Given the description of an element on the screen output the (x, y) to click on. 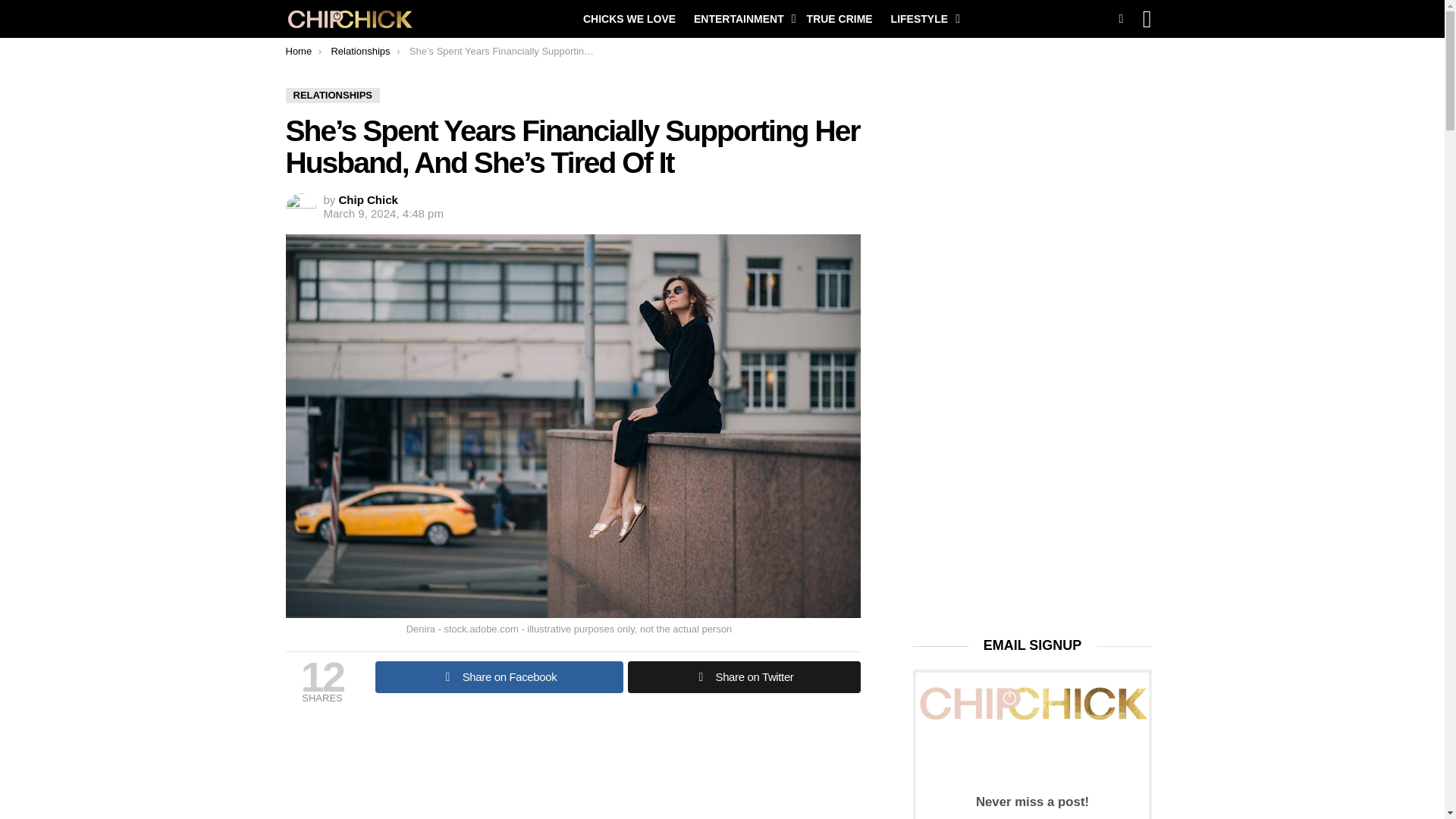
RELATIONSHIPS (332, 95)
Share on Facebook (498, 676)
LIFESTYLE (921, 18)
Share on Twitter (743, 676)
ENTERTAINMENT (740, 18)
Posts by Chip Chick (368, 199)
TRUE CRIME (839, 18)
CHICKS WE LOVE (628, 18)
Relationships (360, 50)
Home (298, 50)
Chip Chick (368, 199)
